Given the description of an element on the screen output the (x, y) to click on. 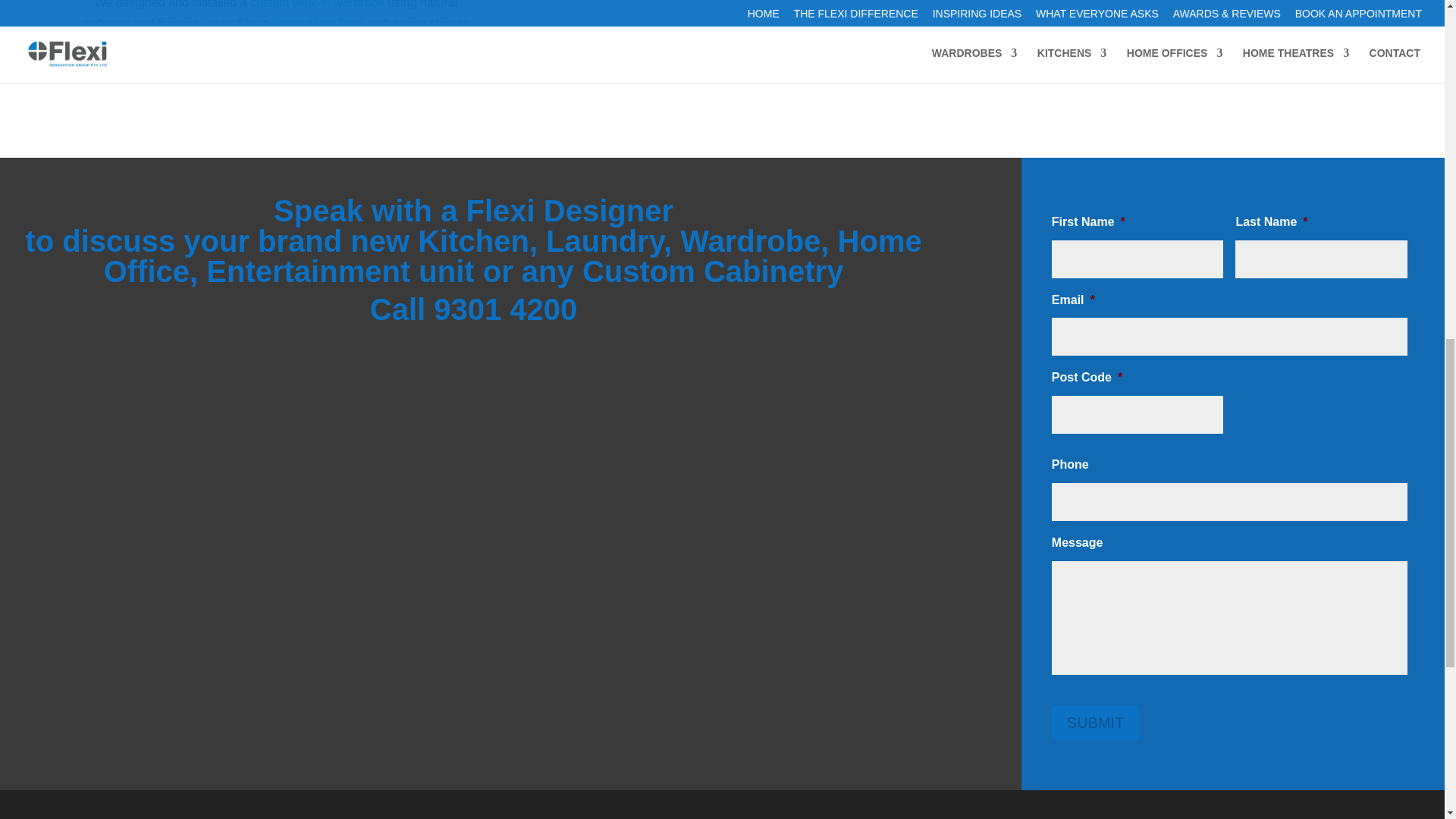
home office fitout (319, 22)
SUBMIT (1095, 722)
custom walk-in wardrobe (317, 4)
